Given the description of an element on the screen output the (x, y) to click on. 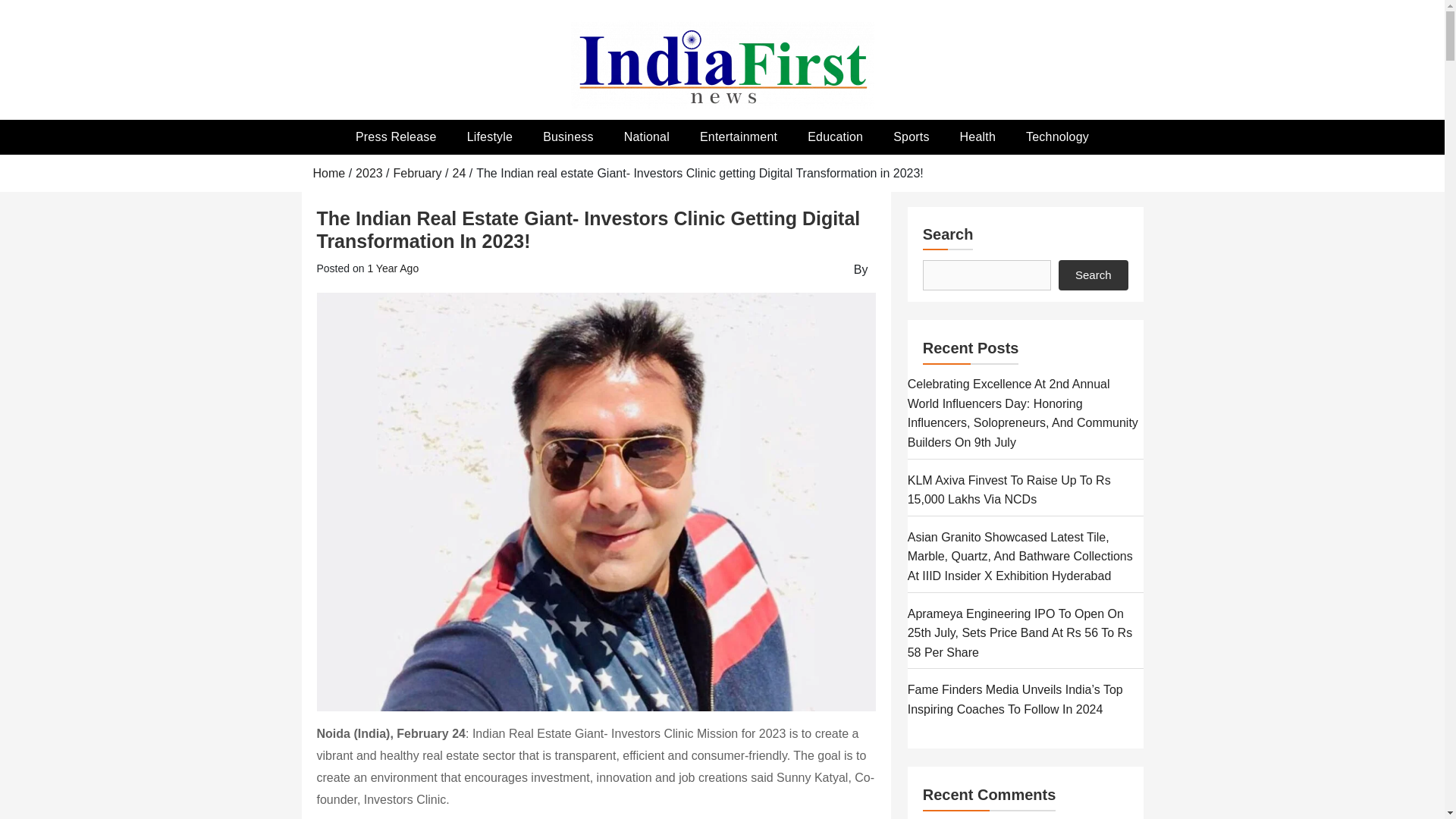
Entertainment (738, 136)
February (417, 173)
2023 (368, 173)
India First News (463, 144)
Education (834, 136)
Lifestyle (489, 136)
Sports (910, 136)
1 Year Ago (392, 268)
Press Release (395, 136)
Business (567, 136)
Home (329, 173)
Technology (1056, 136)
24 (458, 173)
Health (977, 136)
National (646, 136)
